Given the description of an element on the screen output the (x, y) to click on. 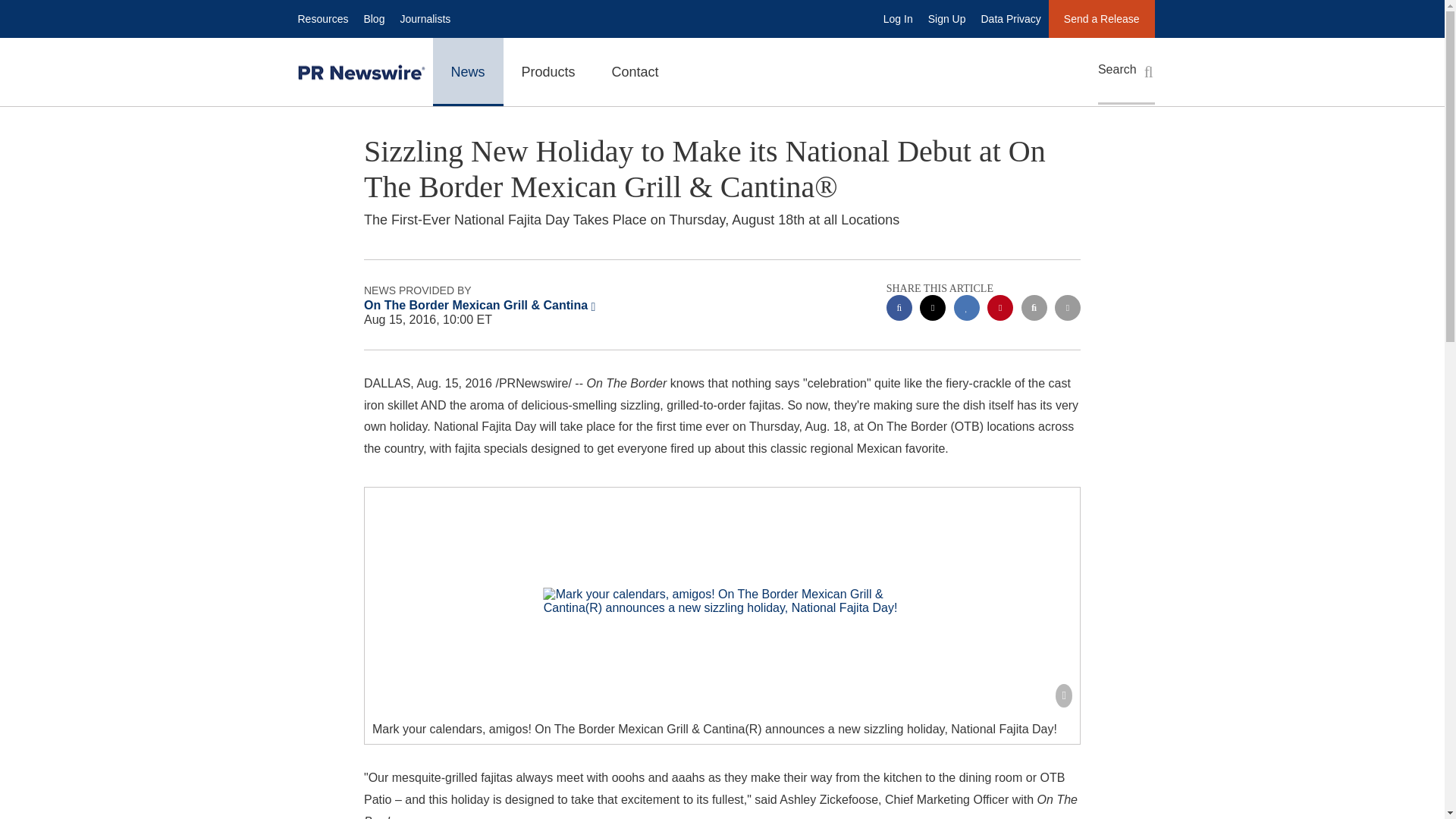
Resources (322, 18)
Contact (635, 71)
Blog (373, 18)
Send a Release (1101, 18)
Sign Up (947, 18)
Data Privacy (1011, 18)
Log In (898, 18)
Products (548, 71)
News (467, 71)
Journalists (424, 18)
